Given the description of an element on the screen output the (x, y) to click on. 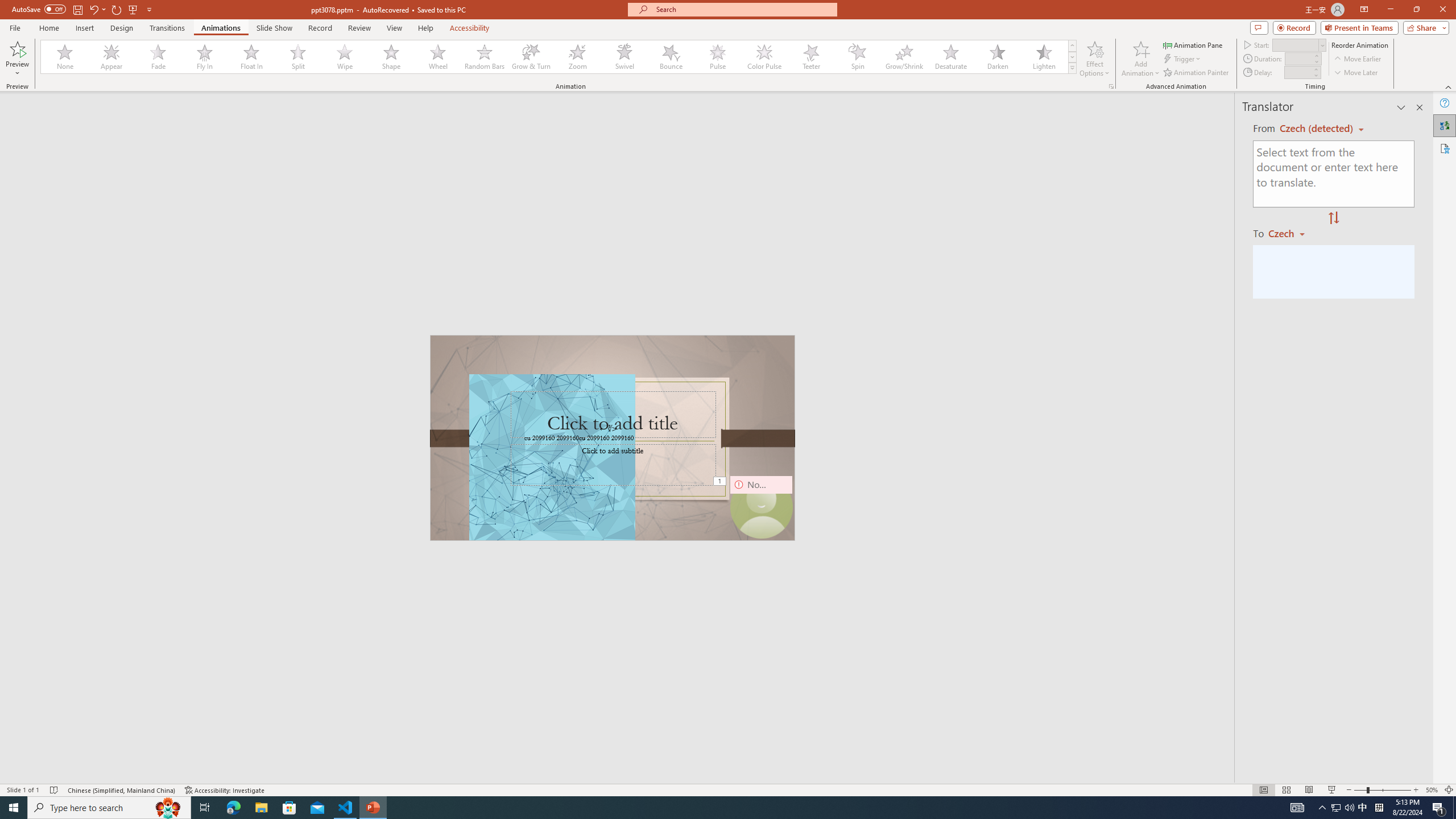
Grow & Turn (531, 56)
Move Later (1355, 72)
Teeter (810, 56)
